Given the description of an element on the screen output the (x, y) to click on. 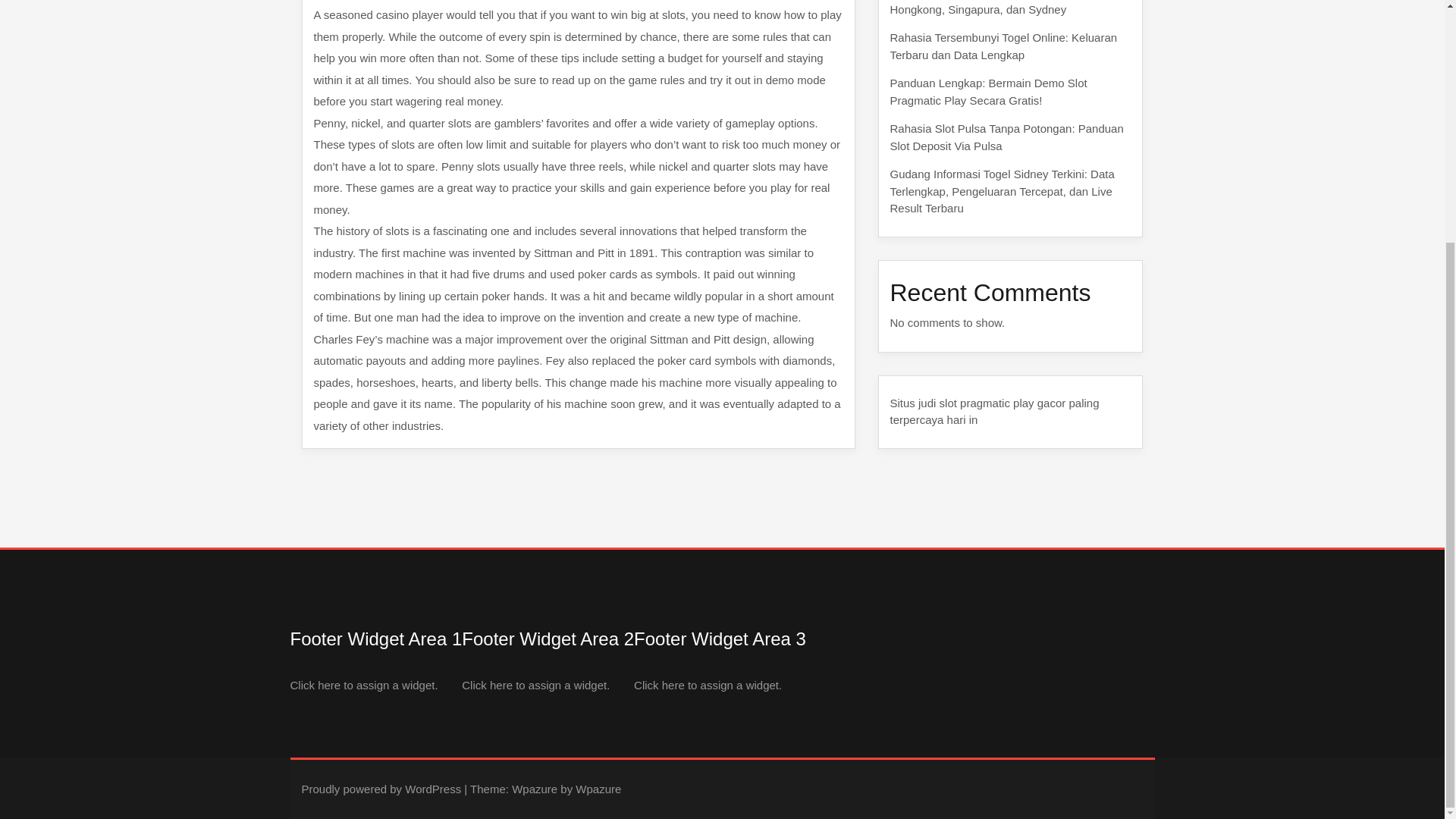
Click here to assign a widget. (535, 684)
slot pragmatic play (986, 401)
Proudly powered by WordPress (381, 788)
Click here to assign a widget. (707, 684)
Wpazure (534, 788)
Click here to assign a widget. (363, 684)
